Given the description of an element on the screen output the (x, y) to click on. 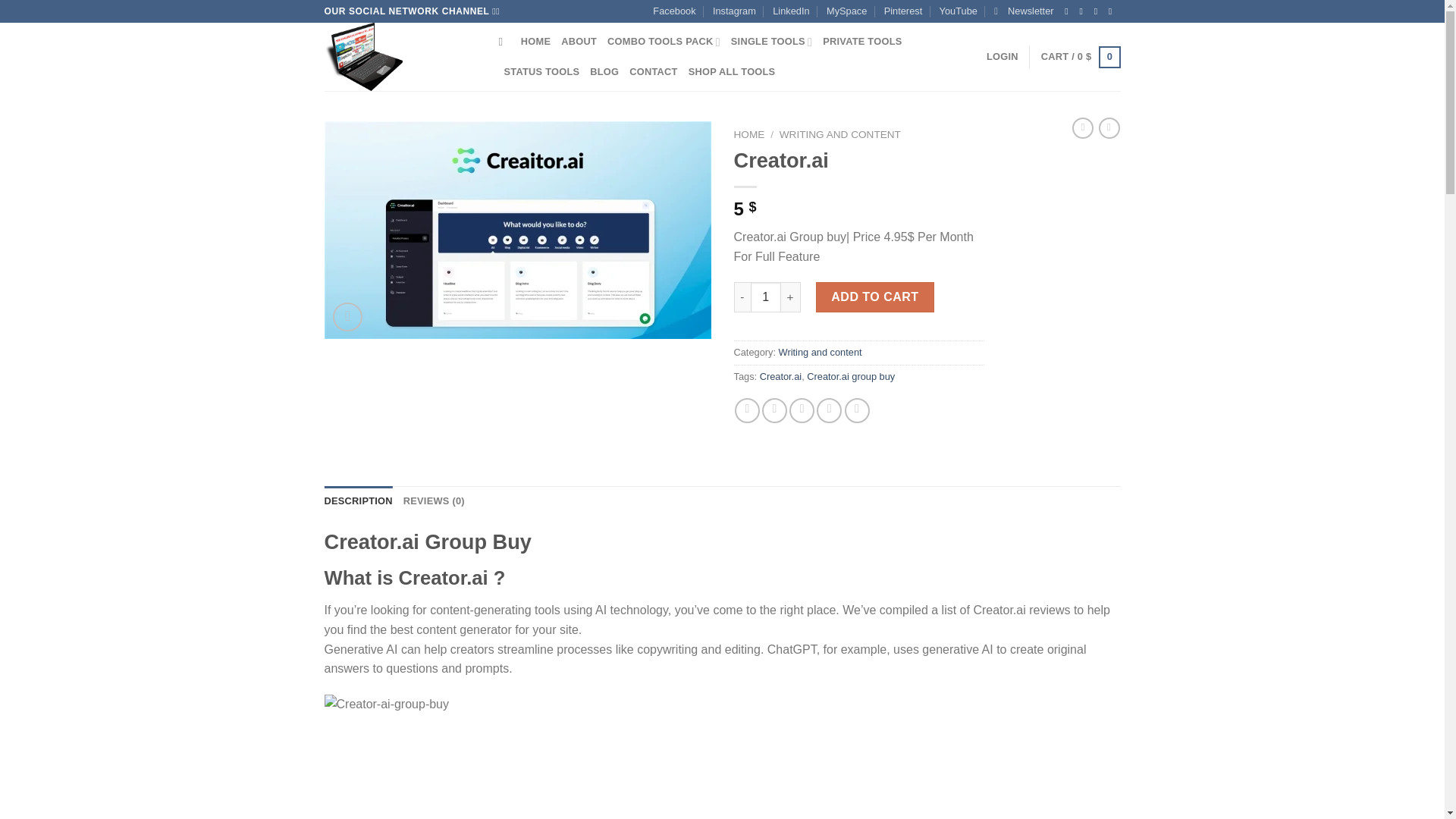
Newsletter (1023, 11)
Cart (1081, 57)
LinkedIn (791, 11)
YouTube (957, 11)
MySpace (846, 11)
STATUS TOOLS (541, 71)
ABOUT (578, 41)
COMBO TOOLS PACK (663, 41)
Instagram (734, 11)
Share on Facebook (747, 410)
